Given the description of an element on the screen output the (x, y) to click on. 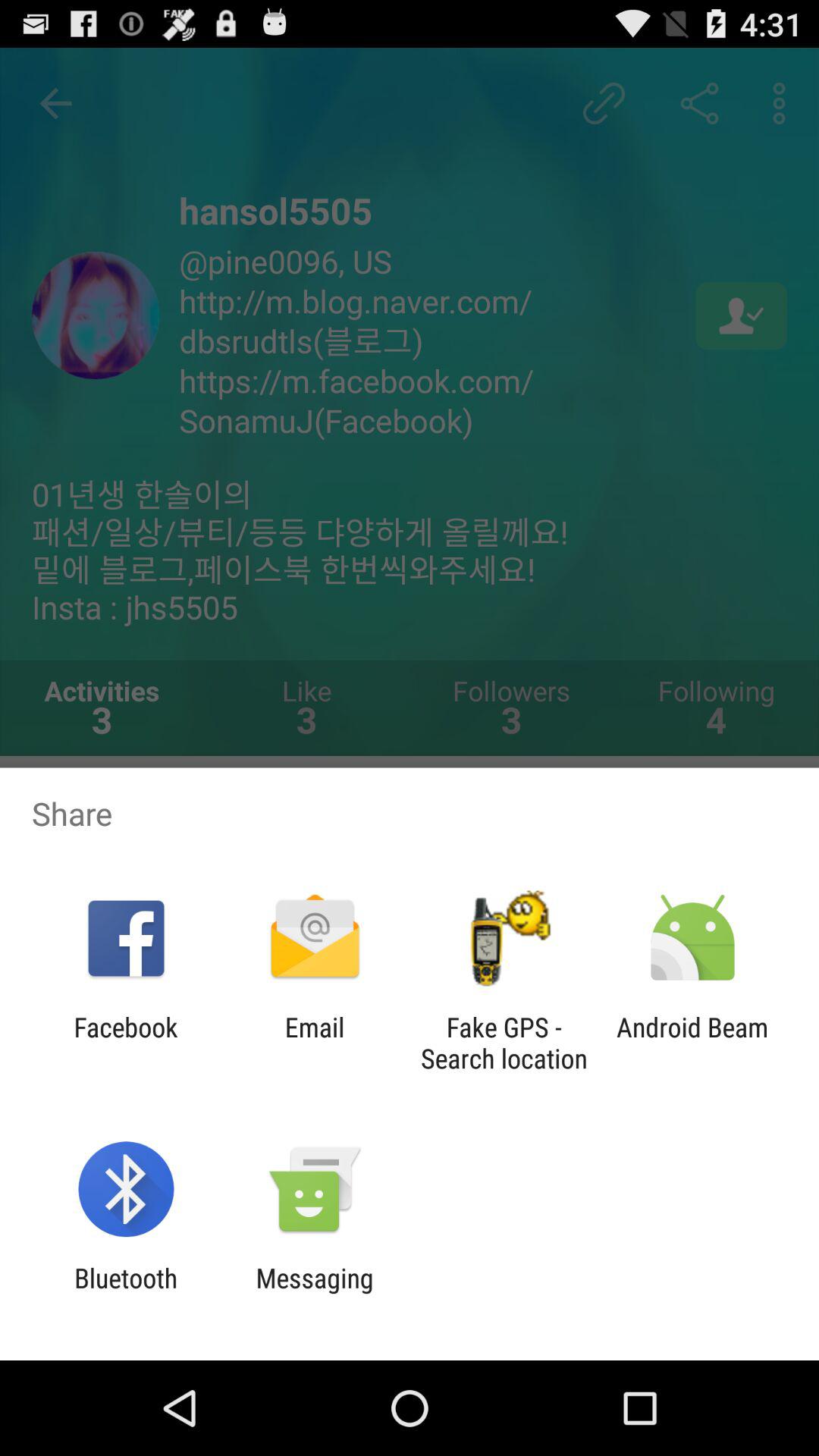
launch the app next to fake gps search icon (314, 1042)
